Given the description of an element on the screen output the (x, y) to click on. 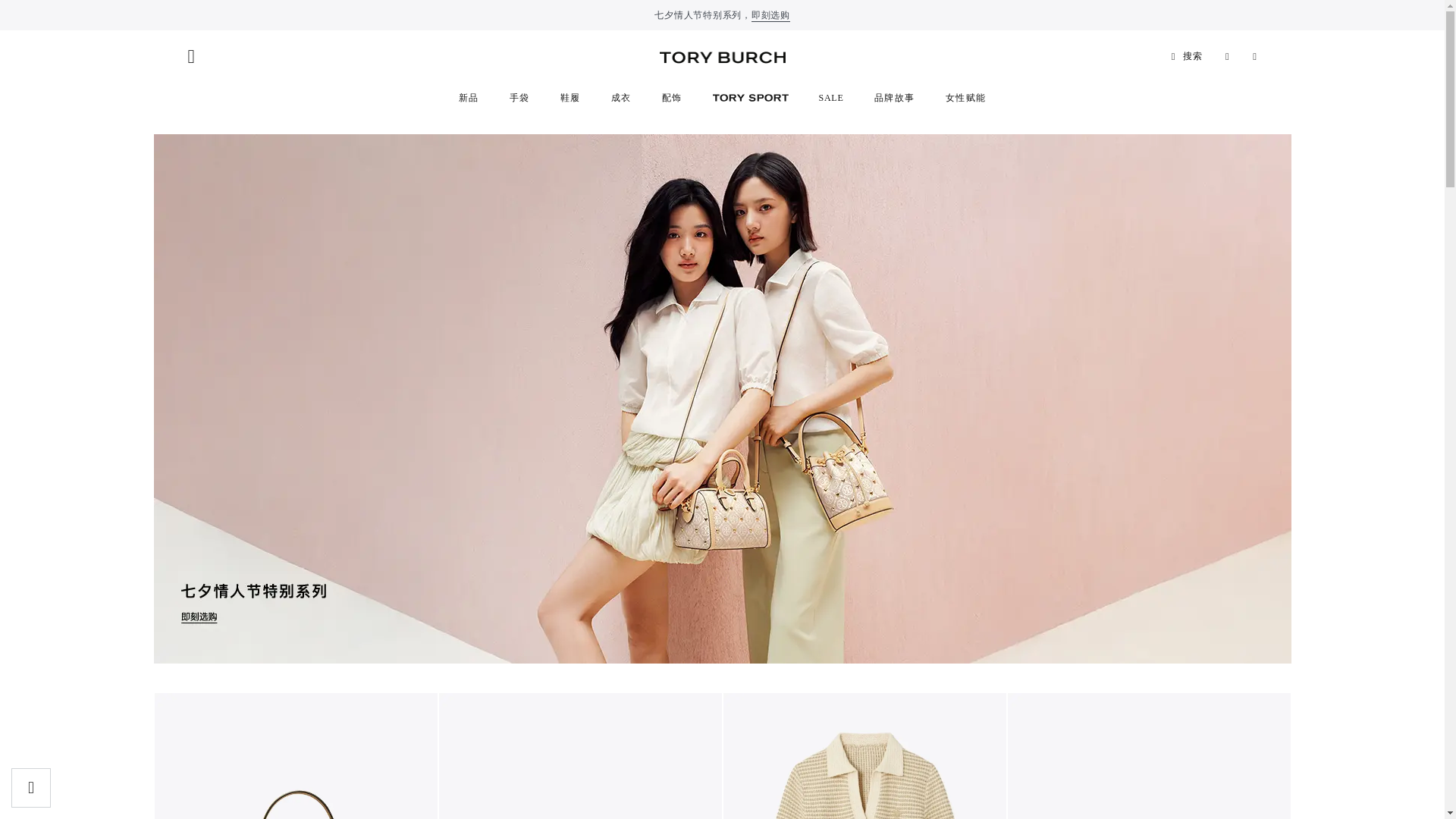
SALE (831, 97)
